Given the description of an element on the screen output the (x, y) to click on. 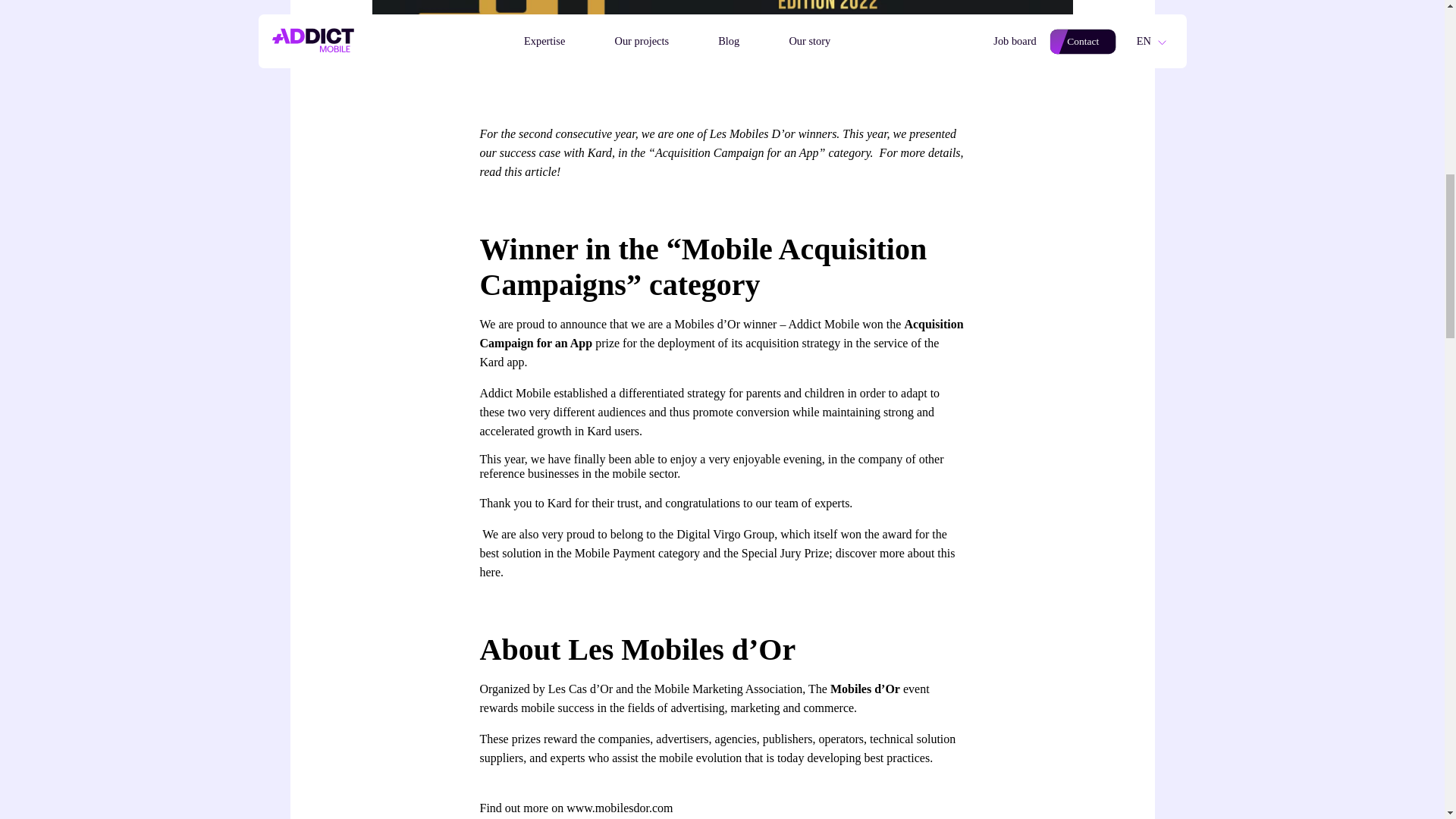
here. (491, 571)
www.mobilesdor.com (619, 807)
Mobile Marketing Association (728, 688)
